Given the description of an element on the screen output the (x, y) to click on. 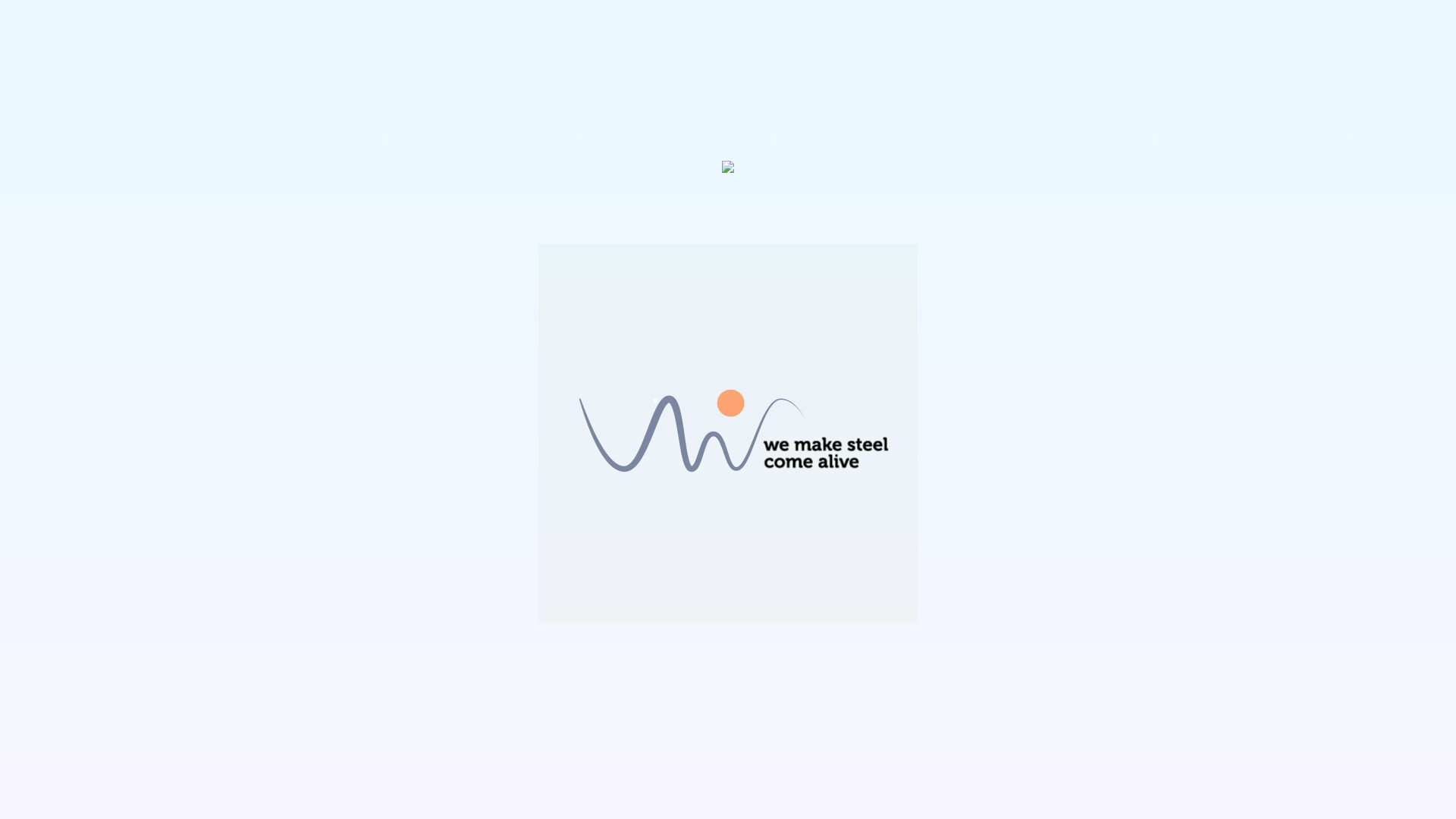
Innovation Element type: text (758, 25)
Homepage Element type: text (658, 25)
Contact us Element type: text (355, 482)
Learn more Element type: text (497, 482)
About us Element type: text (850, 25)
News Element type: text (1112, 25)
Careers Element type: text (931, 25)
Publications Element type: text (1026, 25)
Contact us Element type: text (1191, 25)
